Given the description of an element on the screen output the (x, y) to click on. 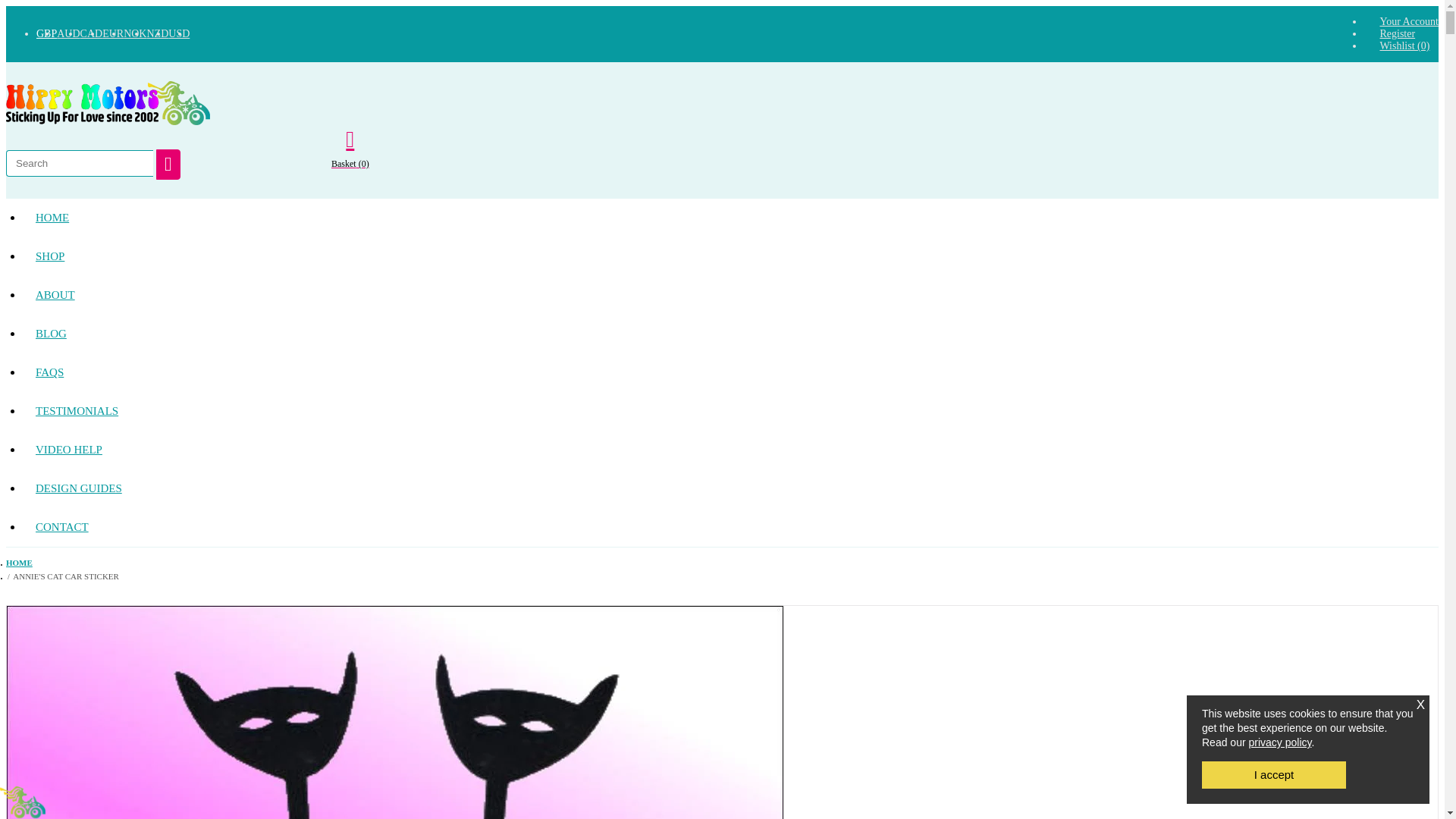
EUR (112, 33)
SHOP (50, 256)
GBP (46, 33)
AUD (68, 33)
FAQS (50, 372)
HOME (52, 218)
ABOUT (55, 295)
VIDEO HELP (69, 449)
BLOG (51, 333)
CAD (91, 33)
USD (178, 33)
Register (1396, 33)
NOK (135, 33)
TESTIMONIALS (77, 411)
NZD (157, 33)
